Given the description of an element on the screen output the (x, y) to click on. 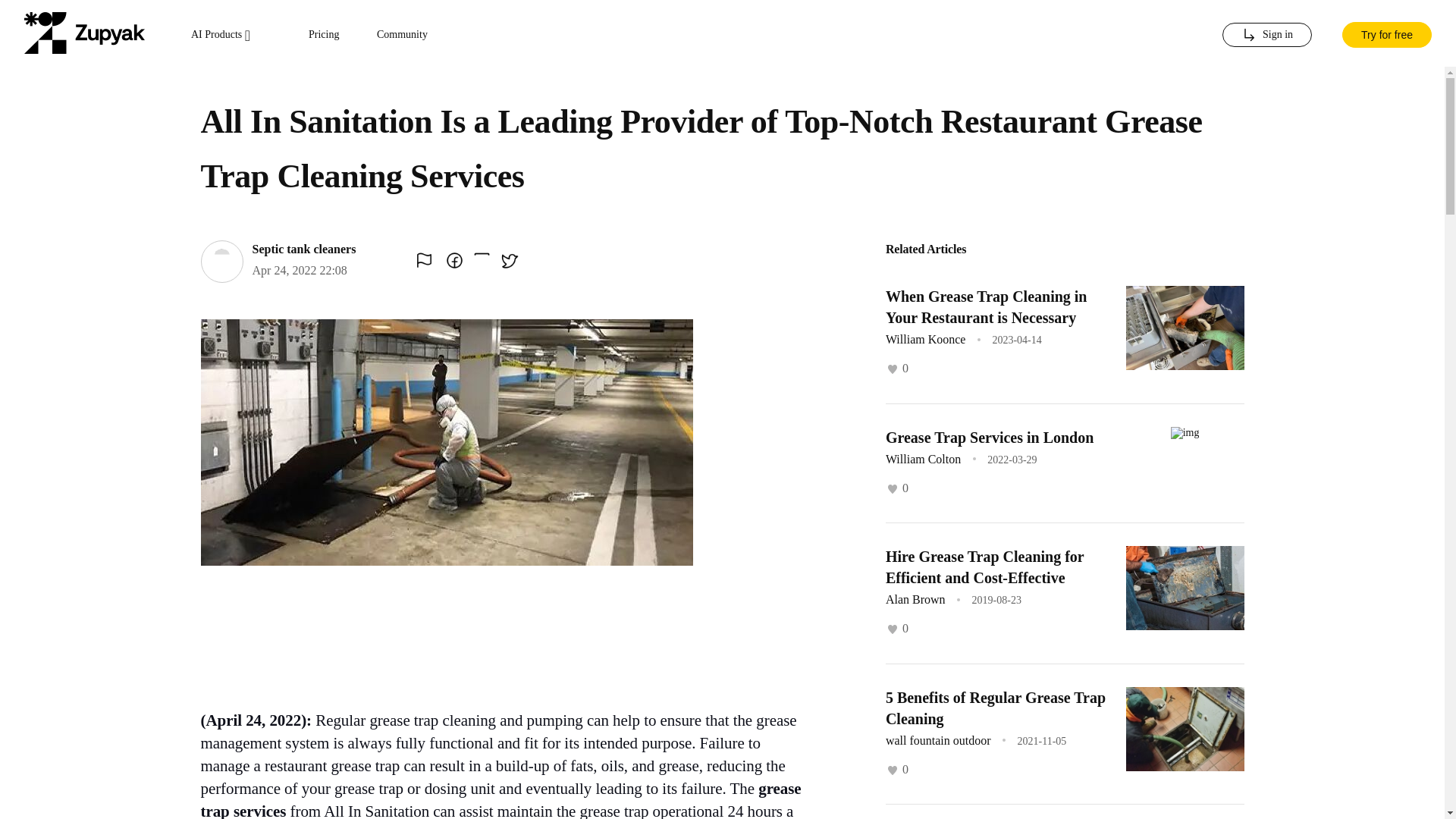
Grease Trap Services in London (989, 437)
When Grease Trap Cleaning in Your Restaurant is Necessary (986, 306)
When Grease Trap Cleaning in Your Restaurant is Necessary (986, 306)
Pricing (323, 34)
grease trap services (500, 799)
Community (402, 34)
 Sign in (1267, 34)
Grease Trap Services in London (989, 437)
